Given the description of an element on the screen output the (x, y) to click on. 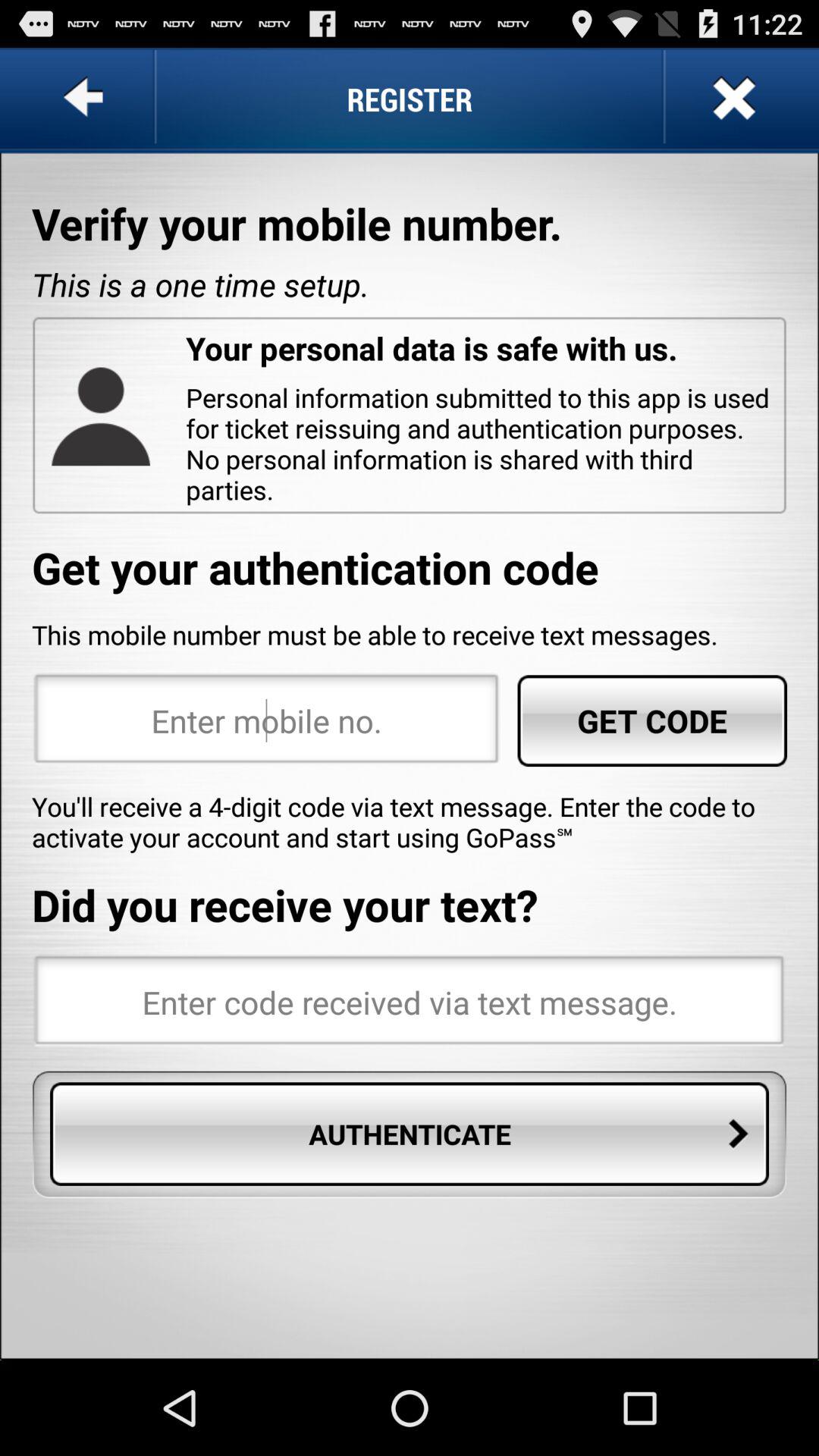
open authenticate (409, 1133)
